Given the description of an element on the screen output the (x, y) to click on. 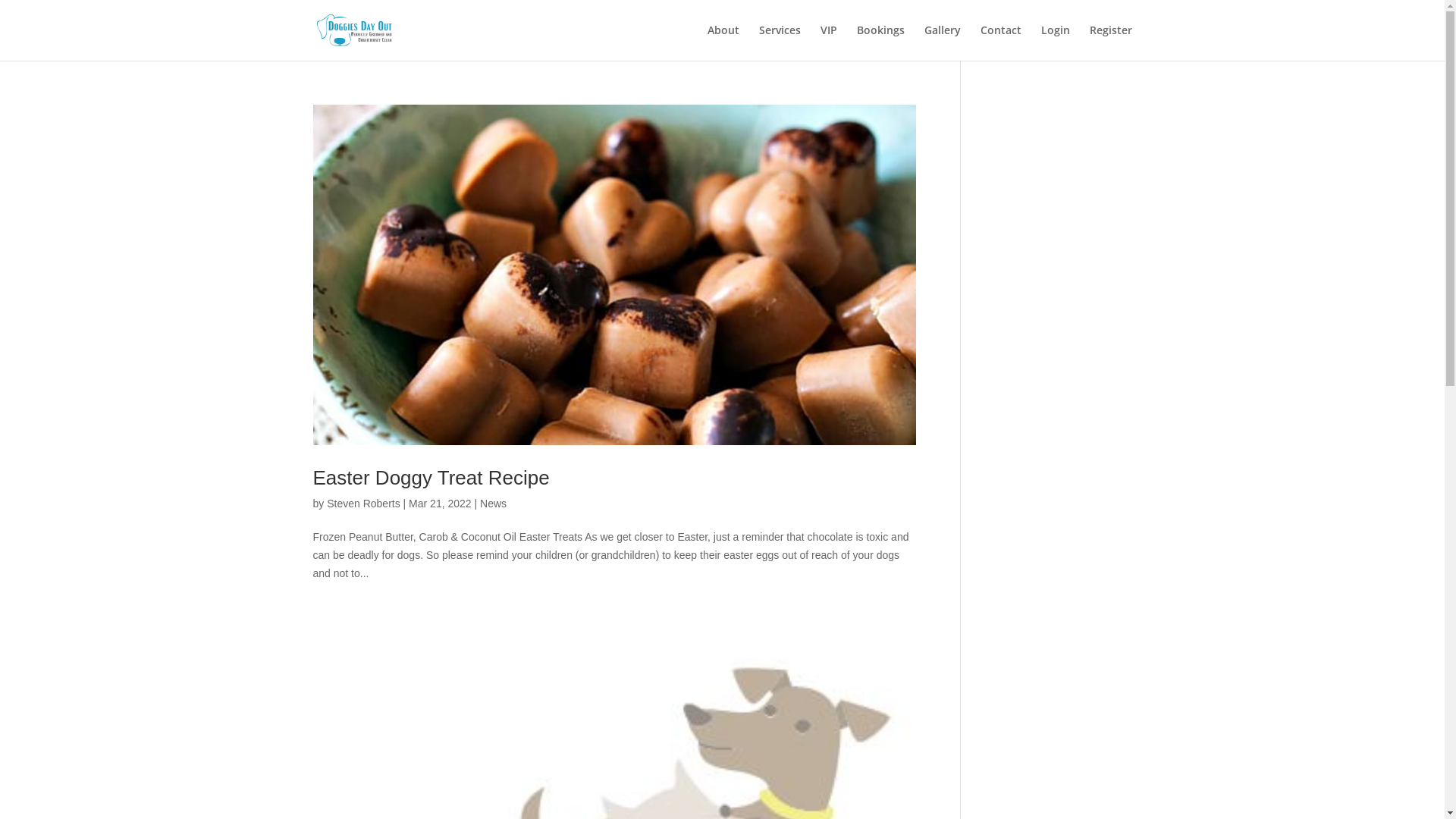
About Element type: text (722, 42)
Contact Element type: text (999, 42)
Login Element type: text (1054, 42)
Bookings Element type: text (880, 42)
Easter Doggy Treat Recipe Element type: text (430, 477)
Gallery Element type: text (941, 42)
News Element type: text (493, 503)
Steven Roberts Element type: text (363, 503)
Register Element type: text (1109, 42)
VIP Element type: text (828, 42)
Services Element type: text (779, 42)
